Given the description of an element on the screen output the (x, y) to click on. 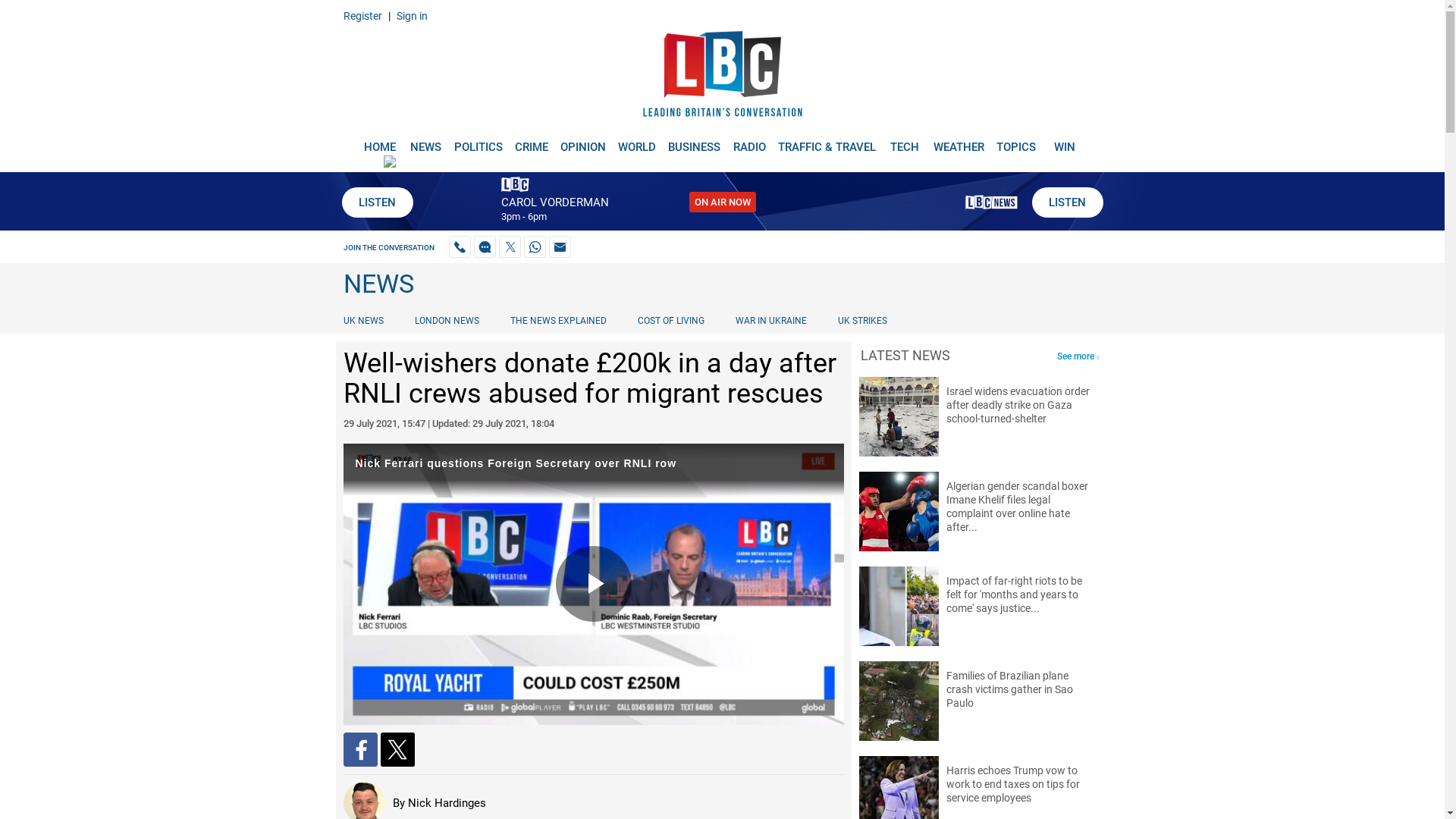
CRIME (531, 140)
TOPICS (1016, 140)
COST OF LIVING (670, 320)
LISTEN (1066, 202)
POLITICS (478, 140)
NEWS (425, 140)
THE NEWS EXPLAINED (558, 320)
WIN (1064, 140)
LBC (722, 77)
RADIO (748, 140)
